Given the description of an element on the screen output the (x, y) to click on. 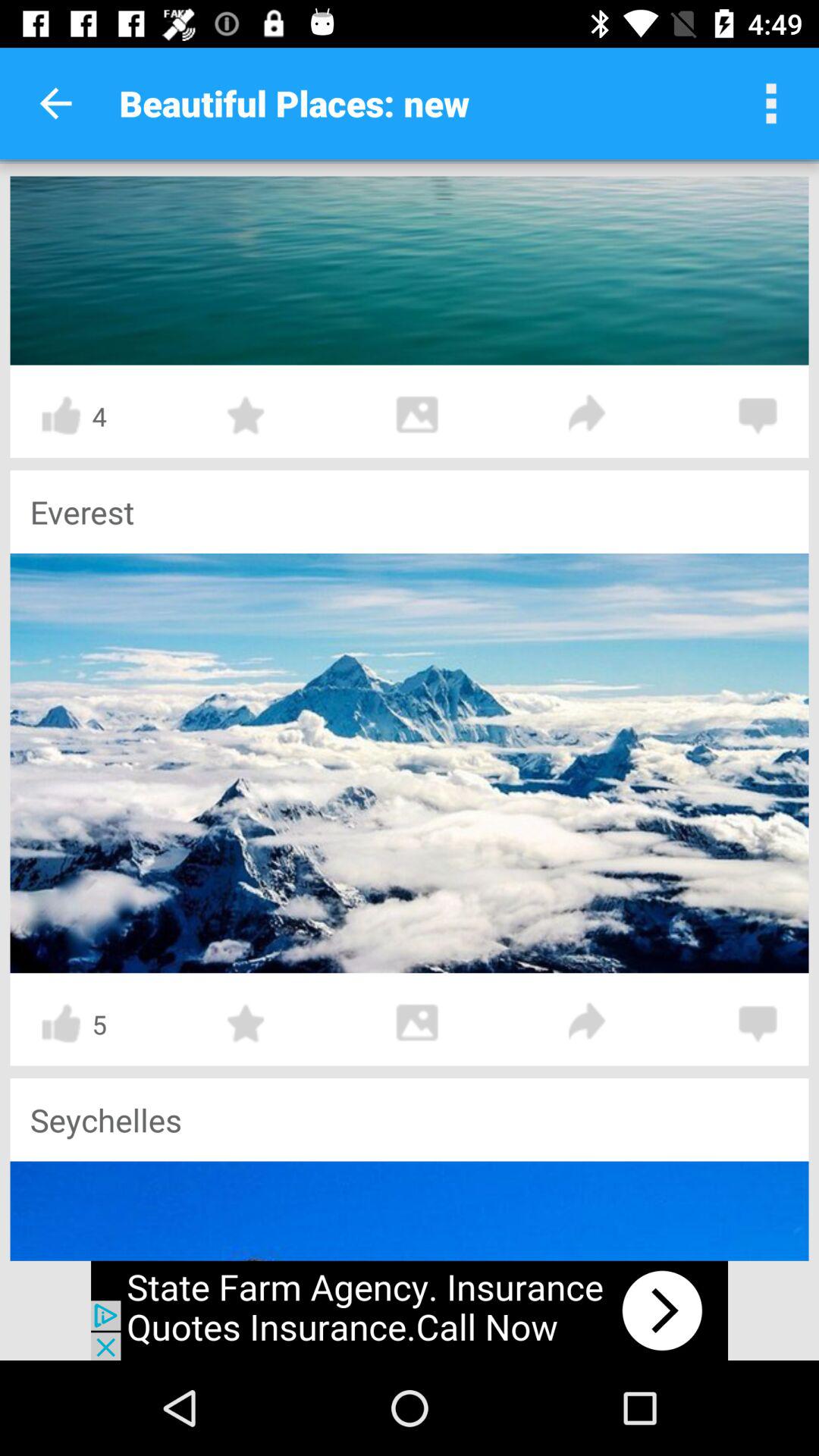
share the image (587, 1023)
